Given the description of an element on the screen output the (x, y) to click on. 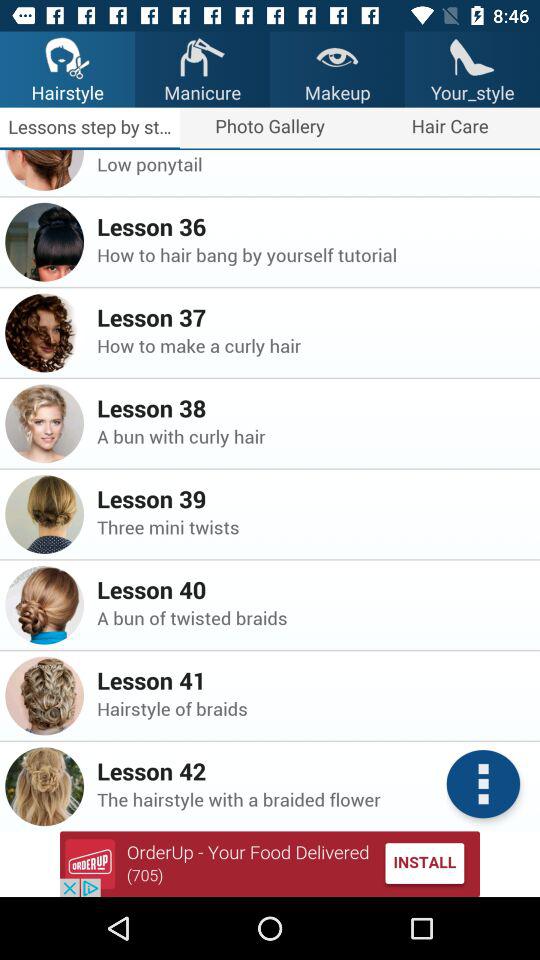
flip until the lesson 41 item (270, 863)
